Given the description of an element on the screen output the (x, y) to click on. 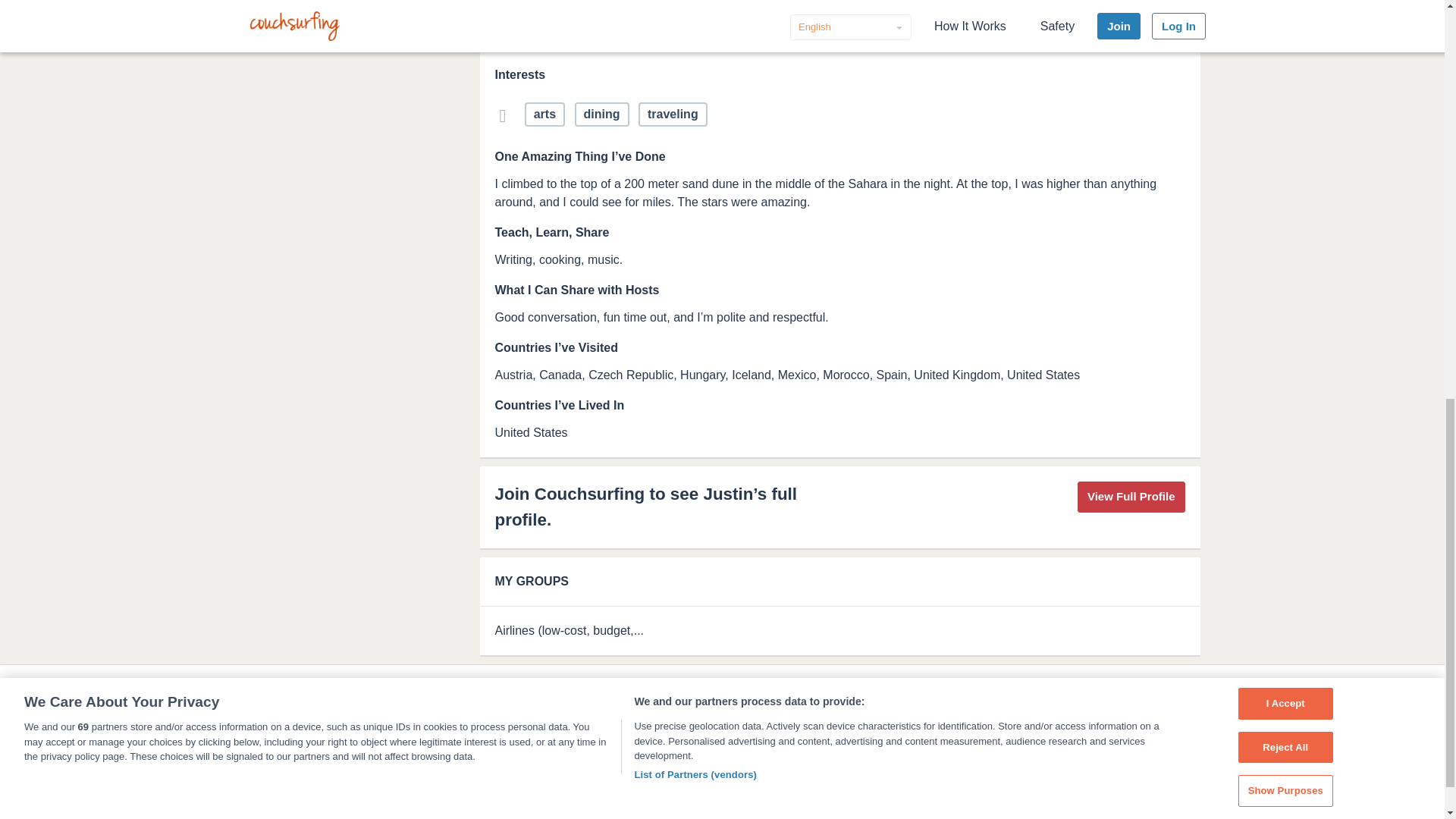
SAFETY (340, 700)
SUPPORT (418, 700)
COOKIE SETTINGS (644, 700)
BLOG (488, 700)
ABOUT (270, 700)
View Full Profile (1131, 496)
SHOP (550, 700)
